Given the description of an element on the screen output the (x, y) to click on. 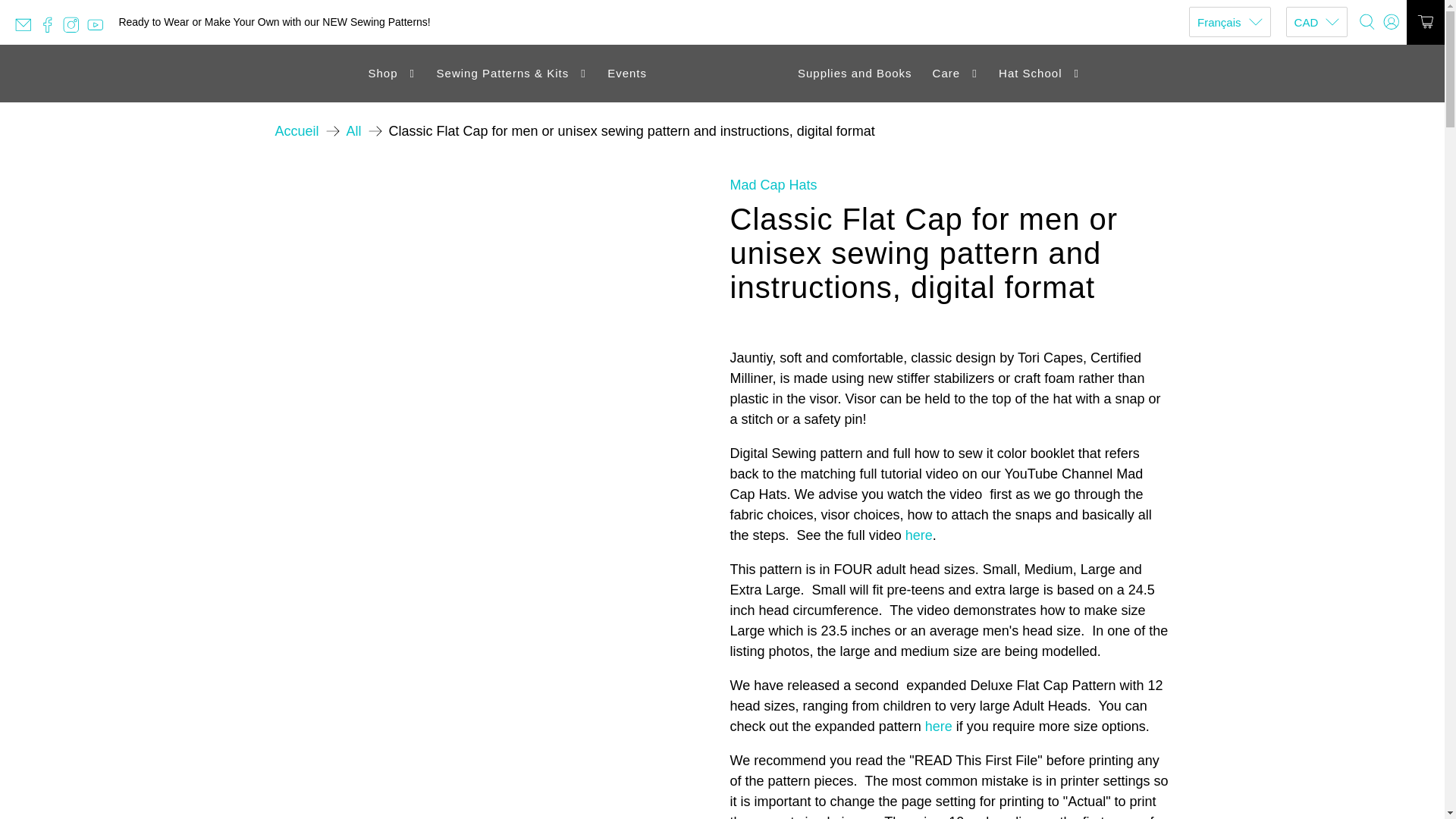
fr (1229, 85)
Care (954, 73)
Email madcaphats (26, 29)
Supplies and Books (854, 73)
madcaphats (296, 131)
CAD (1316, 21)
Events (627, 73)
madcaphats on Instagram (74, 29)
madcaphats (721, 73)
en (1229, 58)
madcaphats on YouTube (99, 29)
Hat School (1039, 73)
CAD (1316, 58)
Shop (392, 73)
madcaphats on Facebook (51, 29)
